Given the description of an element on the screen output the (x, y) to click on. 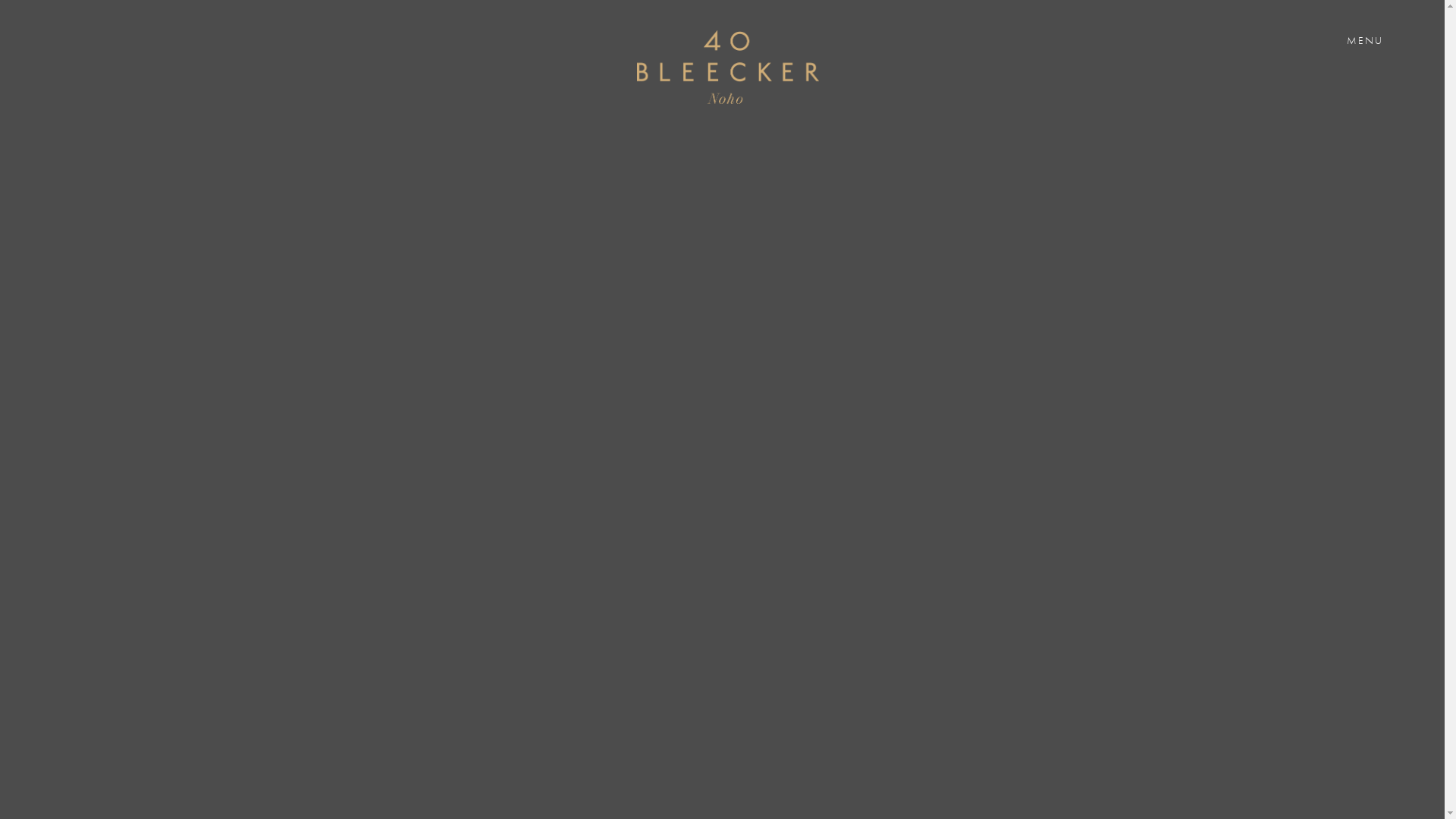
MENU Element type: text (1364, 40)
